Given the description of an element on the screen output the (x, y) to click on. 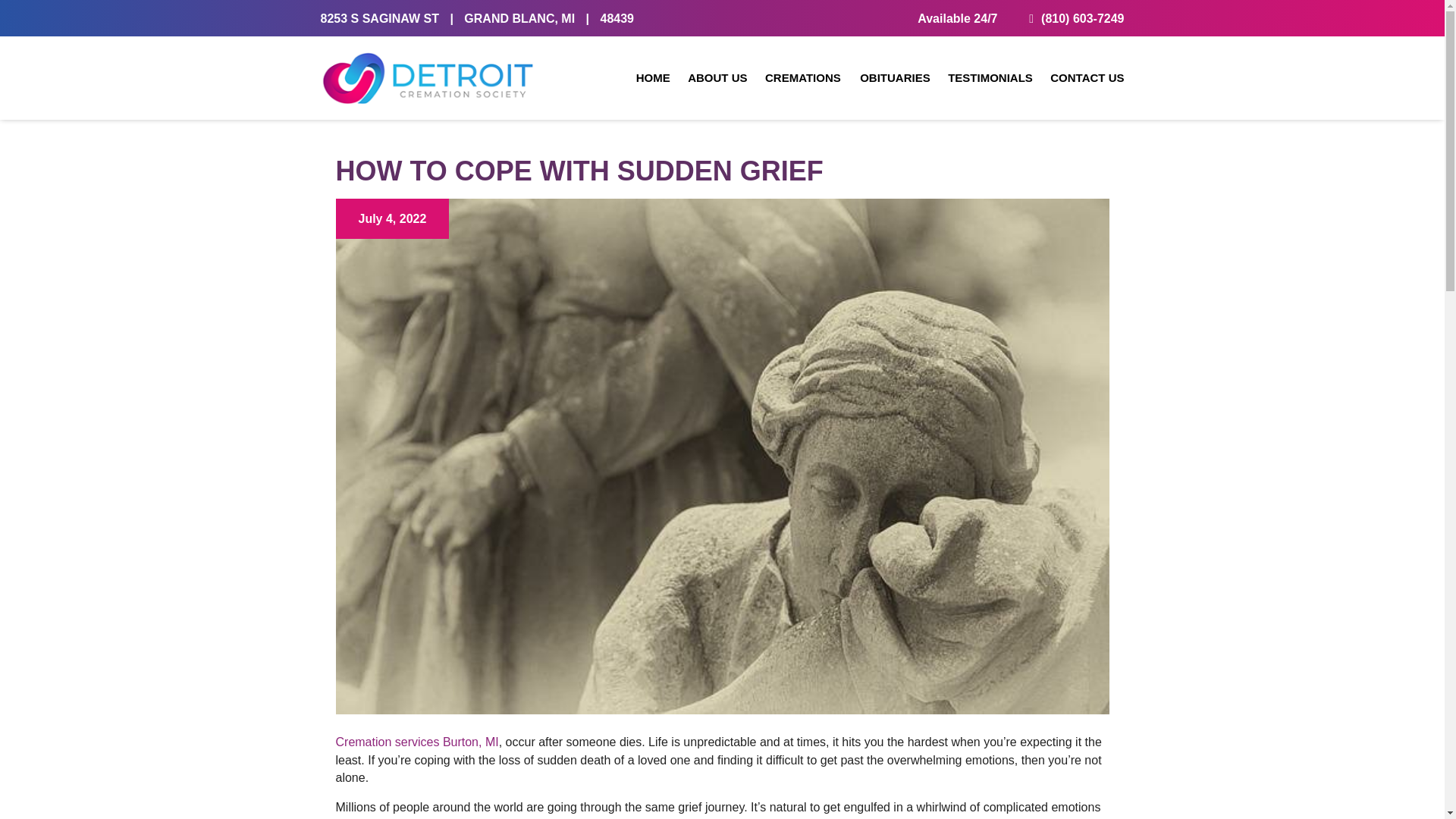
detroit-cremation-society (427, 77)
ABOUT US (716, 78)
HOME (652, 78)
